Given the description of an element on the screen output the (x, y) to click on. 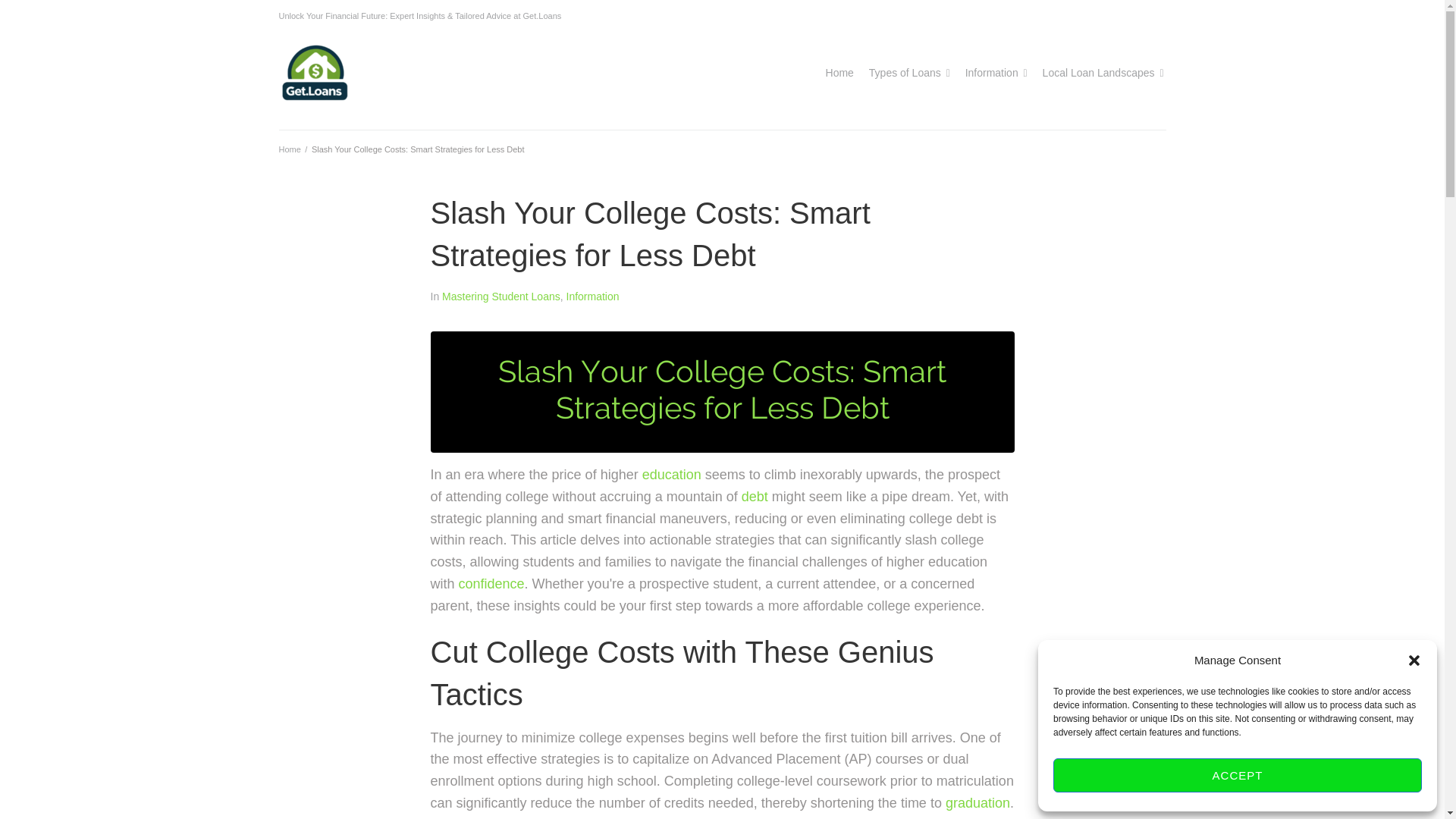
Home (290, 148)
Posts tagged with graduation (977, 802)
Posts tagged with debt (754, 496)
Posts tagged with education (671, 474)
Local Loan Landscapes (1098, 73)
ACCEPT (1237, 775)
Types of Loans (904, 73)
Information (991, 73)
Posts tagged with confidence (491, 583)
Home (839, 73)
